Given the description of an element on the screen output the (x, y) to click on. 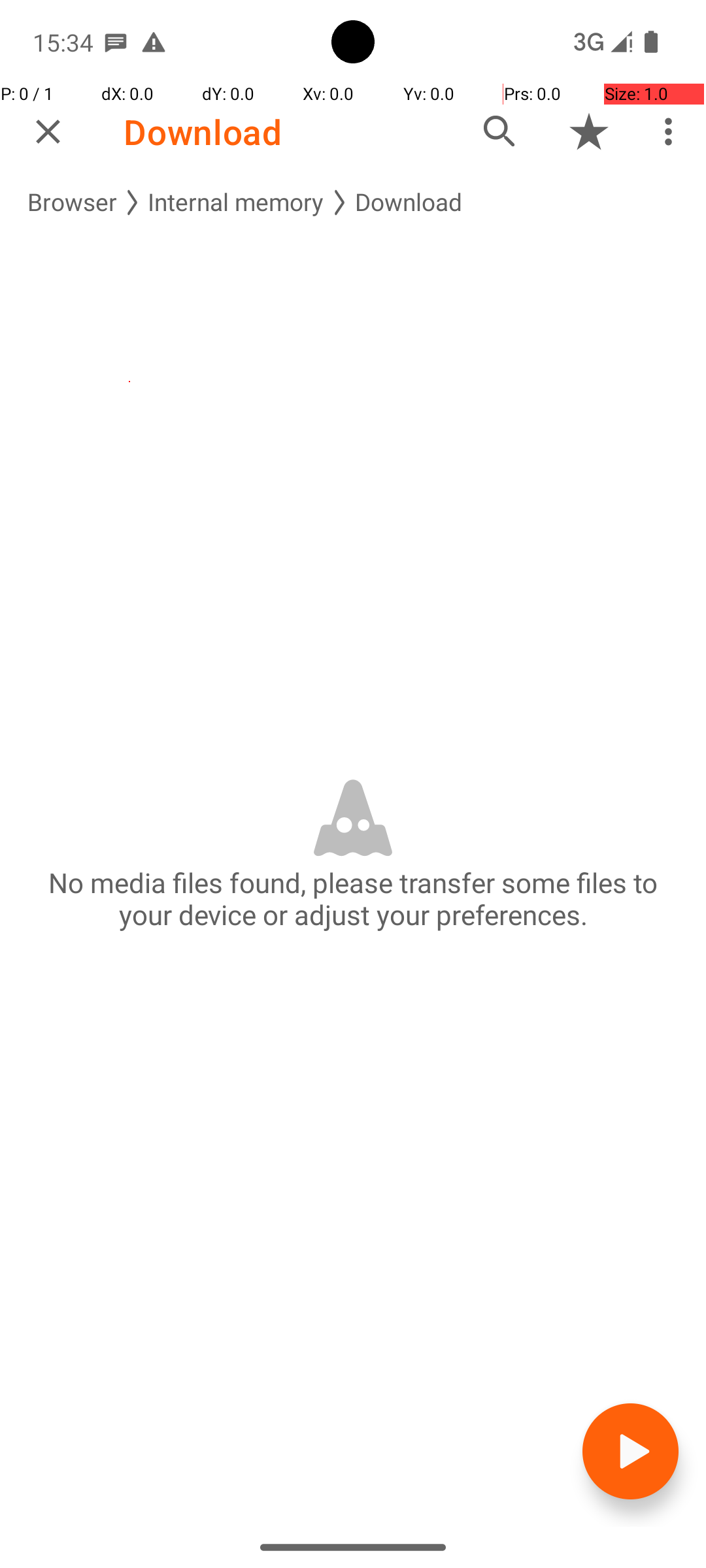
No media files found, please transfer some files to your device or adjust your preferences. Element type: android.widget.TextView (352, 897)
Play Element type: android.widget.ImageButton (630, 1451)
Browser Element type: android.widget.TextView (72, 202)
Internal memory Element type: android.widget.TextView (235, 202)
